Given the description of an element on the screen output the (x, y) to click on. 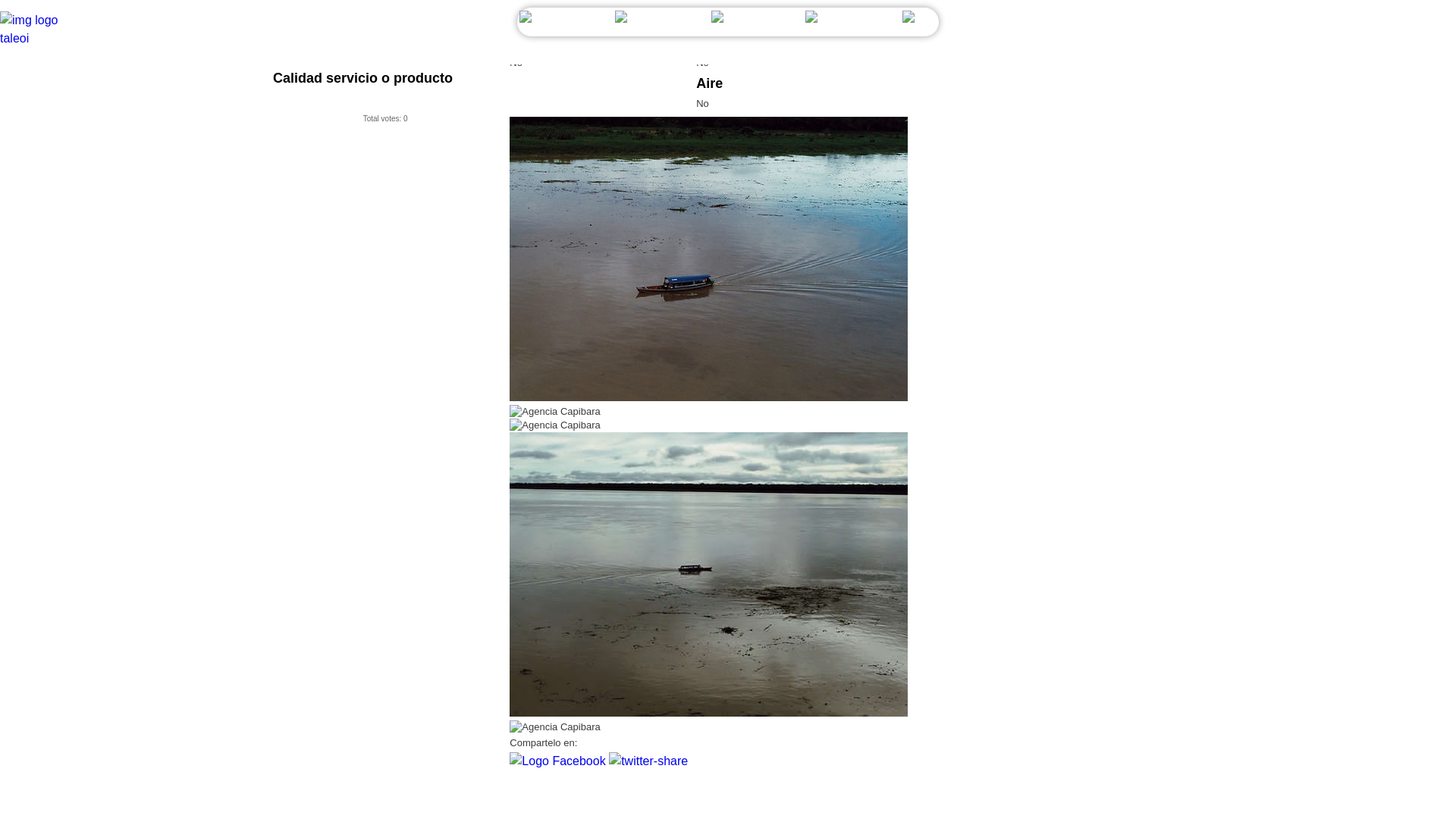
Agencia Capibara (554, 425)
justo (334, 54)
justo (334, 54)
Agencia Capibara (708, 259)
costoso (406, 54)
Agencia Capibara (554, 411)
muy costoso (456, 54)
Agencia Capibara (708, 574)
bueno (368, 54)
costoso (406, 54)
